Given the description of an element on the screen output the (x, y) to click on. 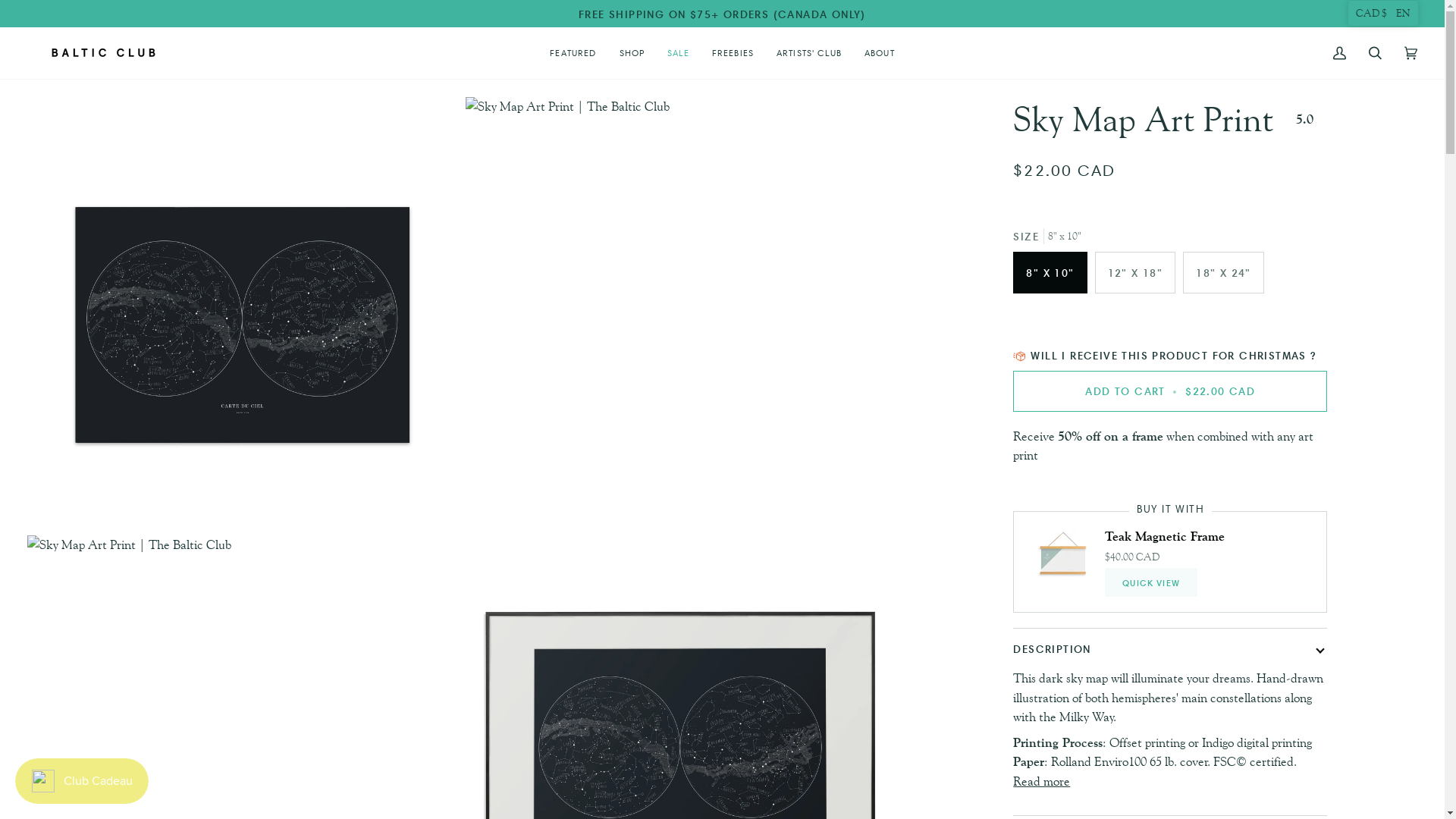
Read more Element type: text (1041, 781)
Search Element type: text (1375, 52)
QUICK VIEW Element type: text (1150, 581)
Teak Magnetic Frame
$40.00 CAD Element type: text (1164, 547)
ABOUT Element type: text (879, 52)
SHOP Element type: text (632, 52)
WILL I RECEIVE THIS PRODUCT FOR CHRISTMAS ? Element type: text (1172, 354)
ARTISTS' CLUB Element type: text (809, 52)
SALE Element type: text (677, 52)
FREEBIES Element type: text (732, 52)
DESCRIPTION Element type: text (1170, 648)
Smile.io Rewards Program Launcher Element type: hover (81, 780)
My Account Element type: text (1339, 52)
Cart
(0) Element type: text (1410, 52)
FEATURED Element type: text (572, 52)
